Given the description of an element on the screen output the (x, y) to click on. 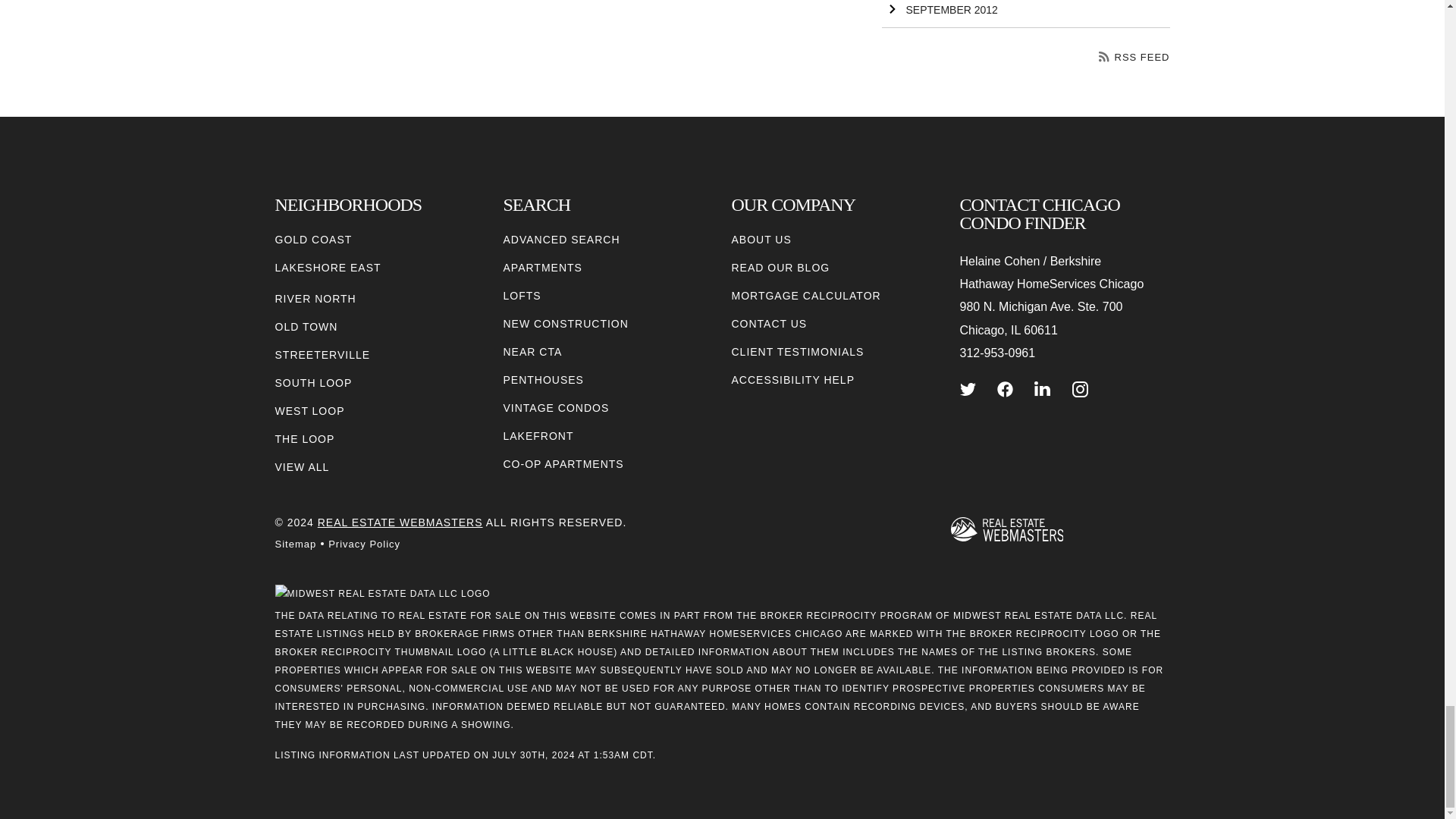
RSS FEED (1134, 57)
